Given the description of an element on the screen output the (x, y) to click on. 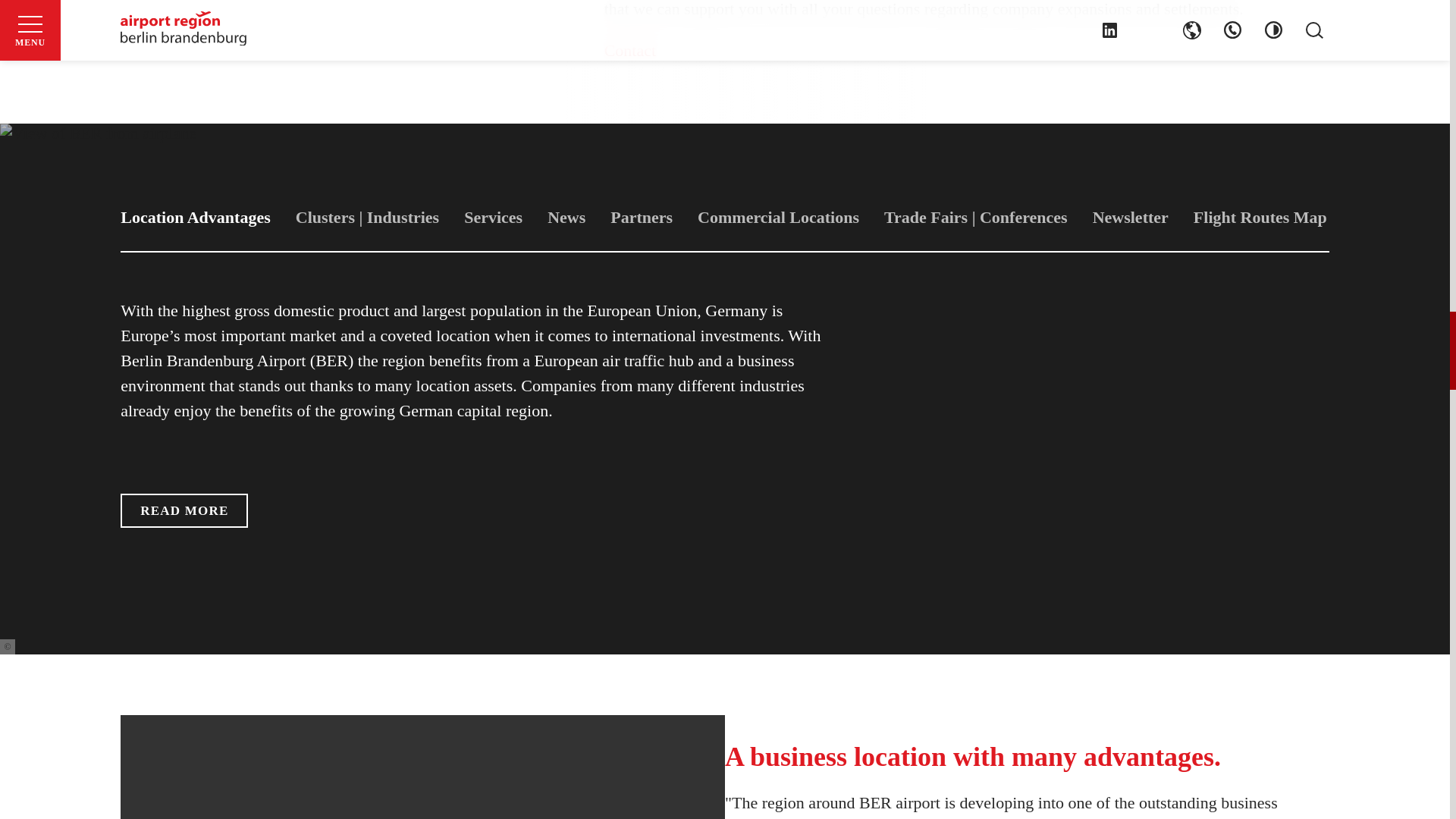
READ MORE (183, 510)
Contact (630, 49)
